Given the description of an element on the screen output the (x, y) to click on. 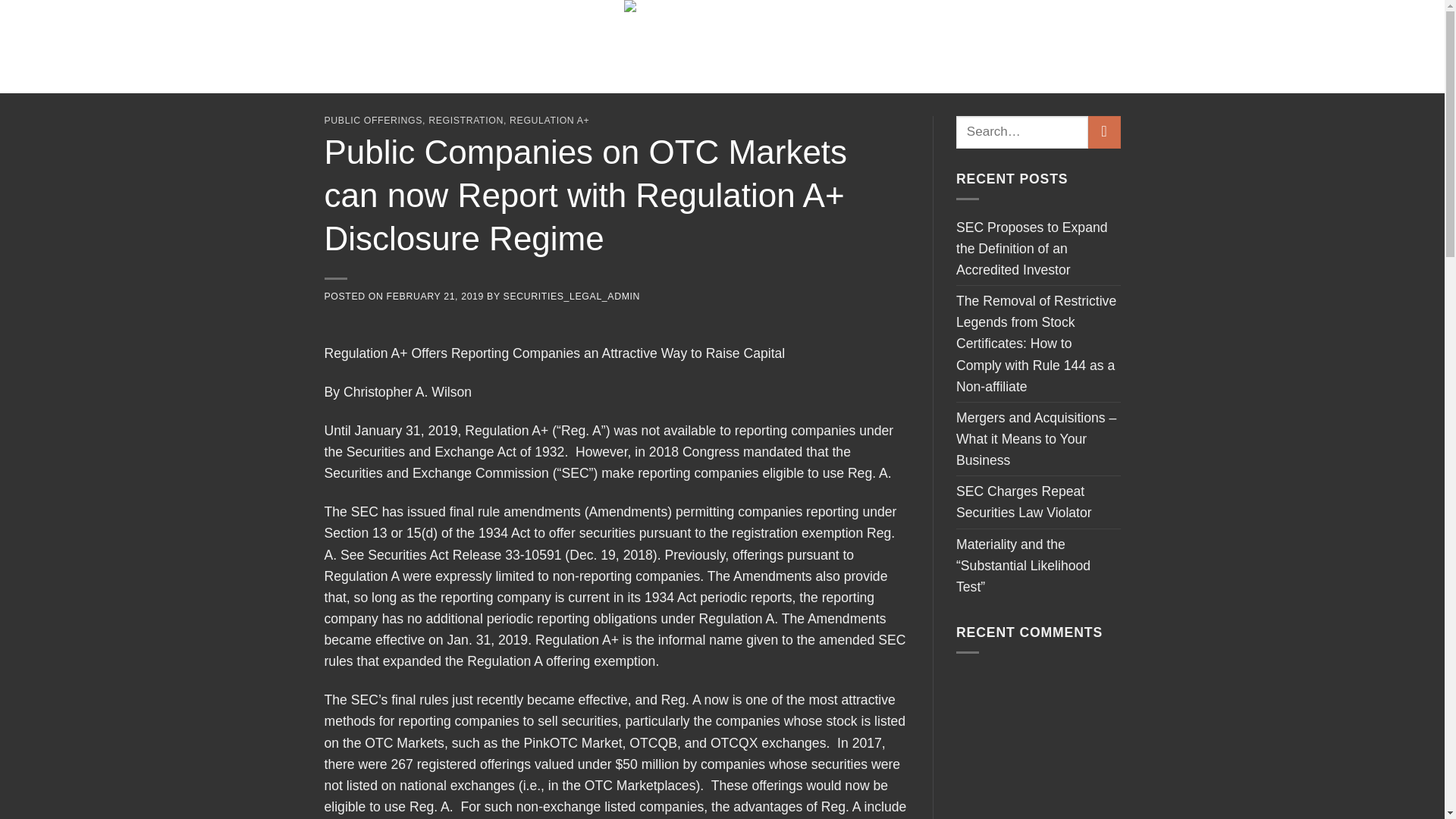
PRACTICE AREAS (493, 46)
CONTACT (1088, 32)
FLAT FEE PRICING (998, 32)
FEBRUARY 21, 2019 (435, 296)
SECURITIES BLOG (1070, 61)
SEC Charges Repeat Securities Law Violator (1038, 501)
HOME (340, 46)
PUBLIC OFFERINGS (373, 120)
REGISTRATION (465, 120)
Securities Act Release 33-10591 (464, 554)
LEGAL TEAM (401, 46)
